Given the description of an element on the screen output the (x, y) to click on. 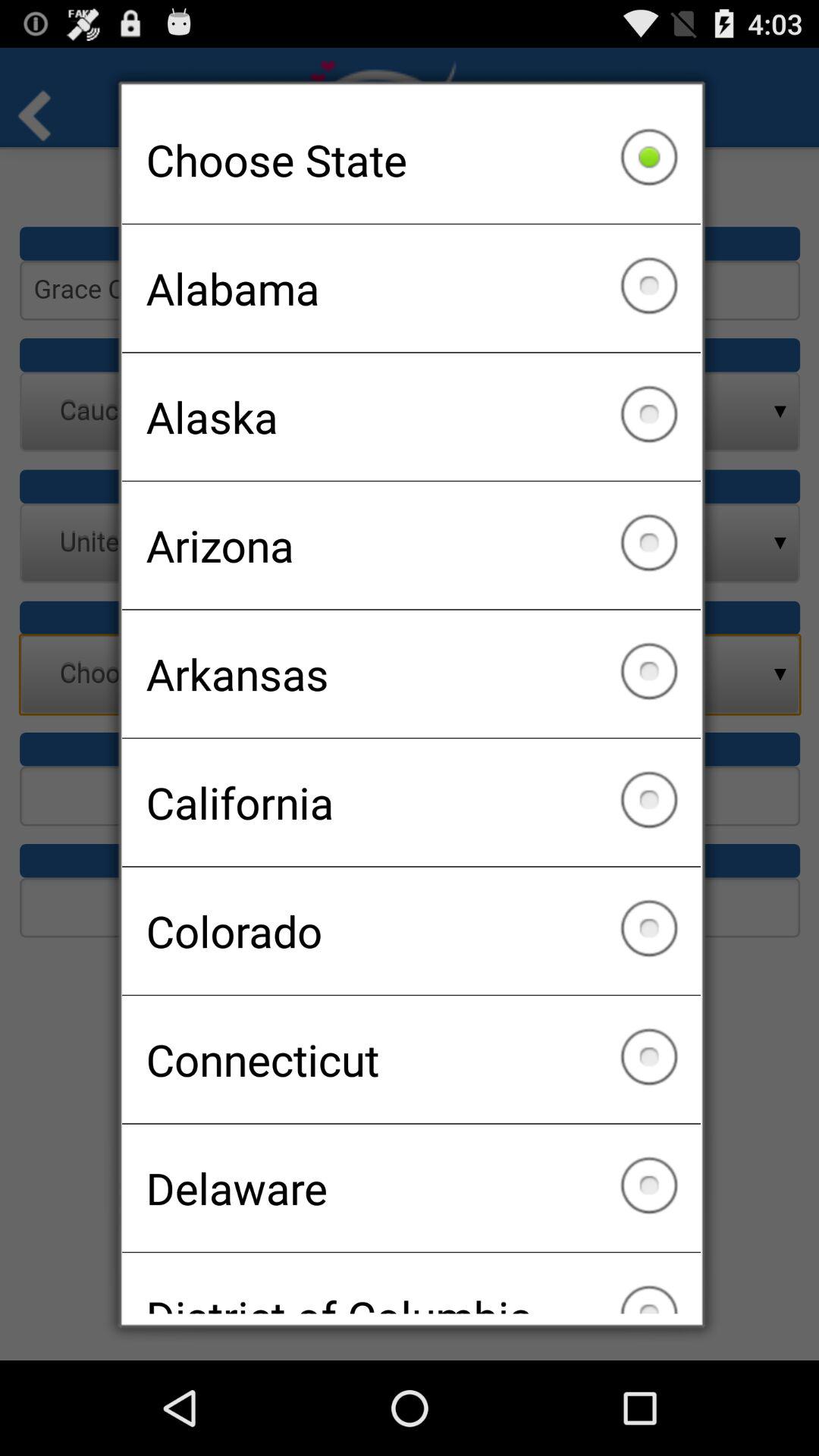
select the alaska checkbox (411, 416)
